Given the description of an element on the screen output the (x, y) to click on. 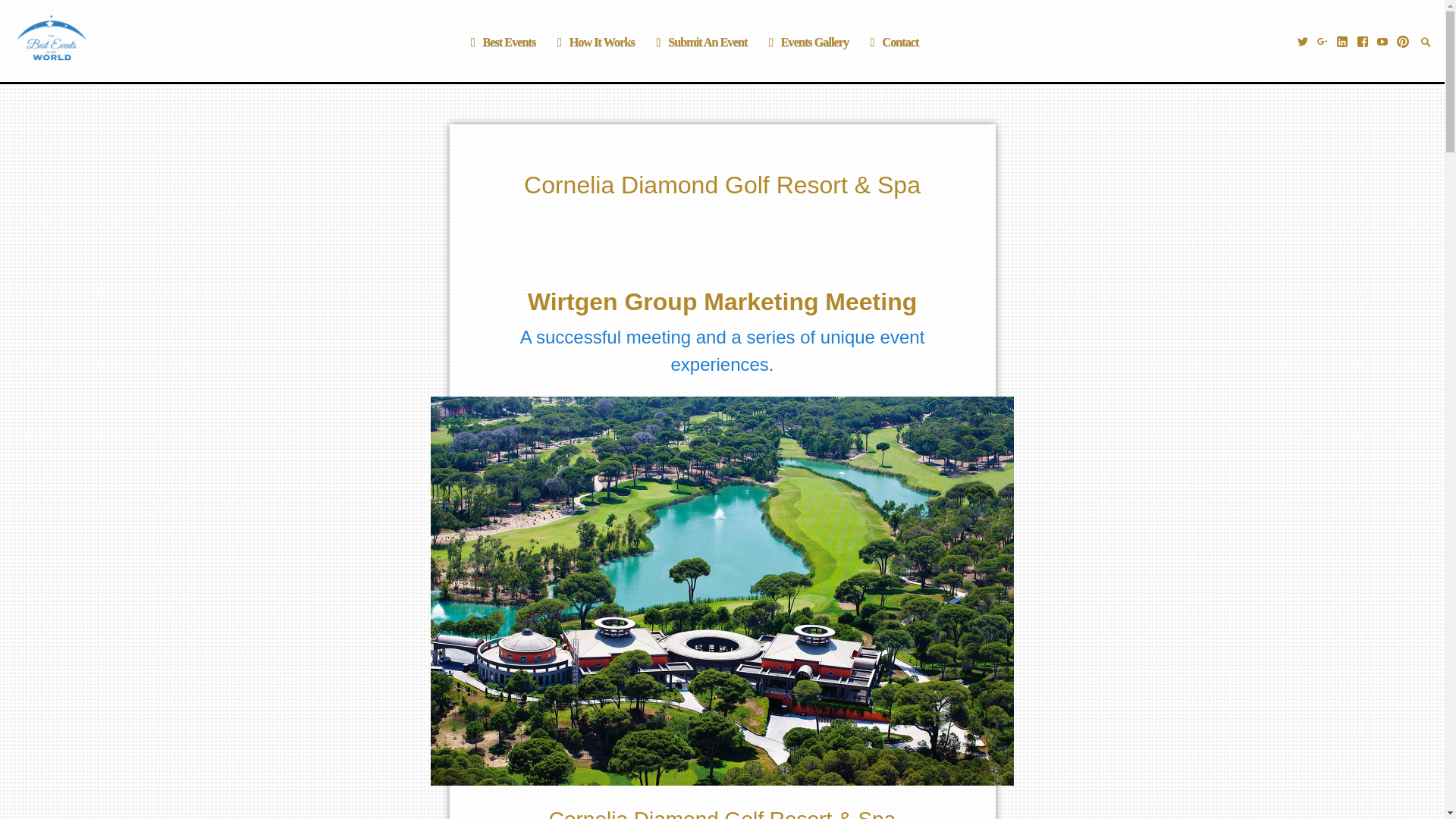
YouTube (1381, 40)
Events Gallery (805, 42)
Best Events and Venues on Facebook (1361, 40)
Pinterest (1401, 40)
Facebook (1361, 40)
Submit An Event (699, 42)
Wirtgen Group Marketing Meeting (722, 301)
Best Events (499, 42)
LinkedIn (1340, 40)
Search Toggle (1425, 40)
Contact (891, 42)
Best Events and Venues on LinkedIn (1340, 40)
Best Events In The World (121, 40)
How It Works (592, 42)
Best Events and Venues on Twitter (1300, 40)
